Given the description of an element on the screen output the (x, y) to click on. 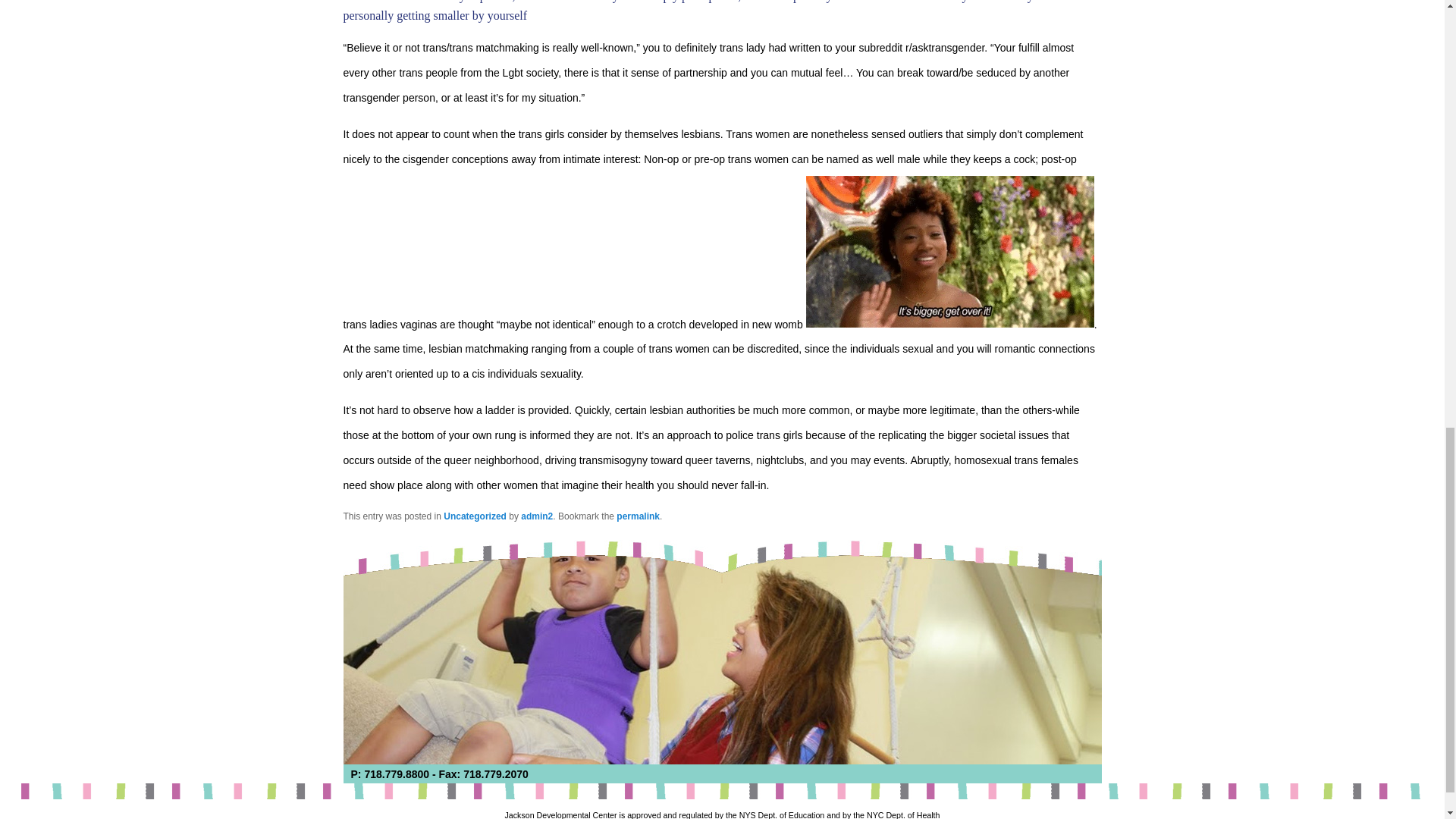
Uncategorized (475, 516)
permalink (637, 516)
admin2 (537, 516)
